Given the description of an element on the screen output the (x, y) to click on. 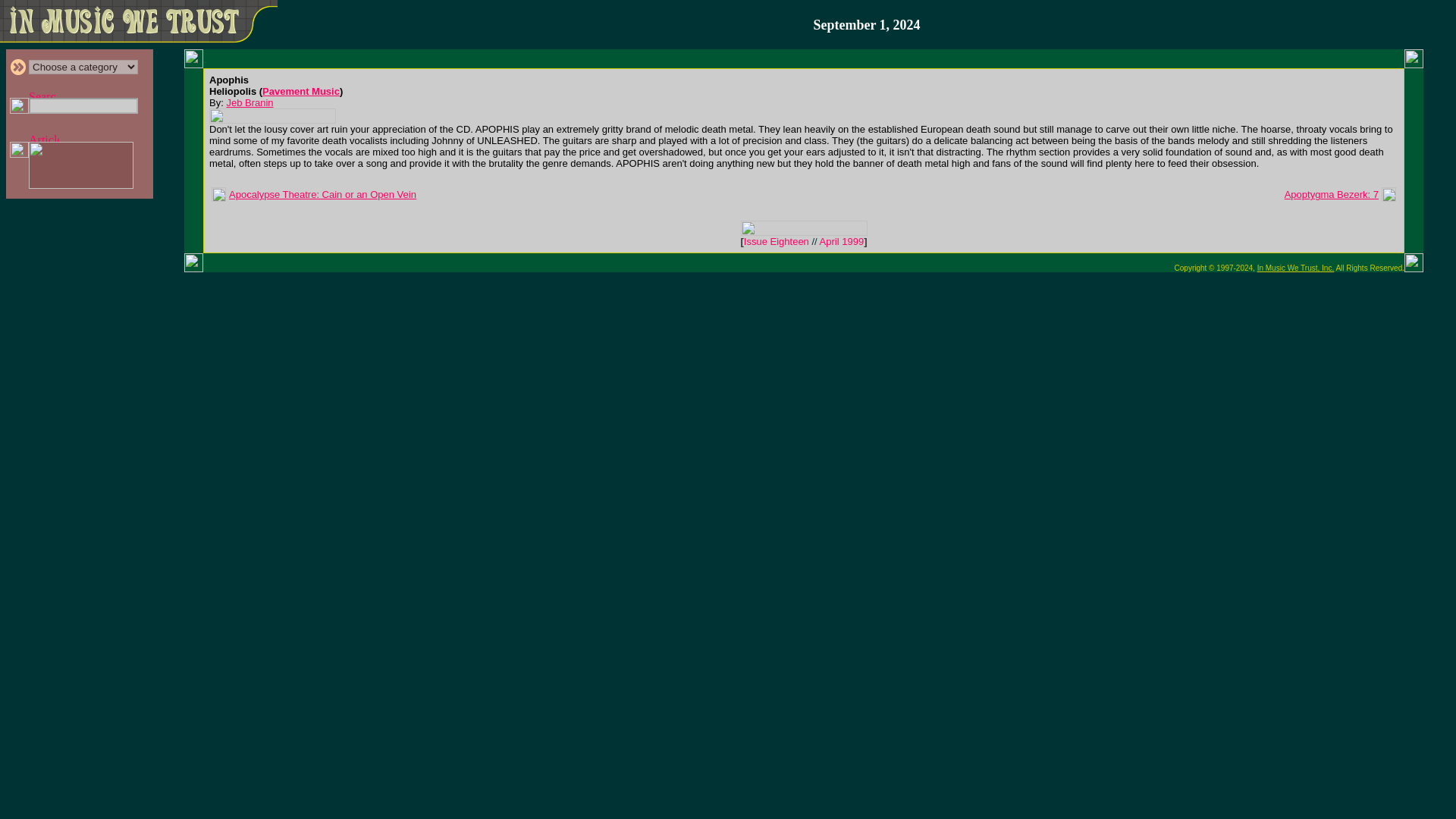
September 1, 2024 (866, 24)
In Music We Trust, Inc. (1296, 267)
Jeb Branin (249, 102)
Apocalypse Theatre: Cain or an Open Vein (322, 194)
Apoptygma Bezerk: 7 (1331, 194)
Pavement Music (300, 91)
